Given the description of an element on the screen output the (x, y) to click on. 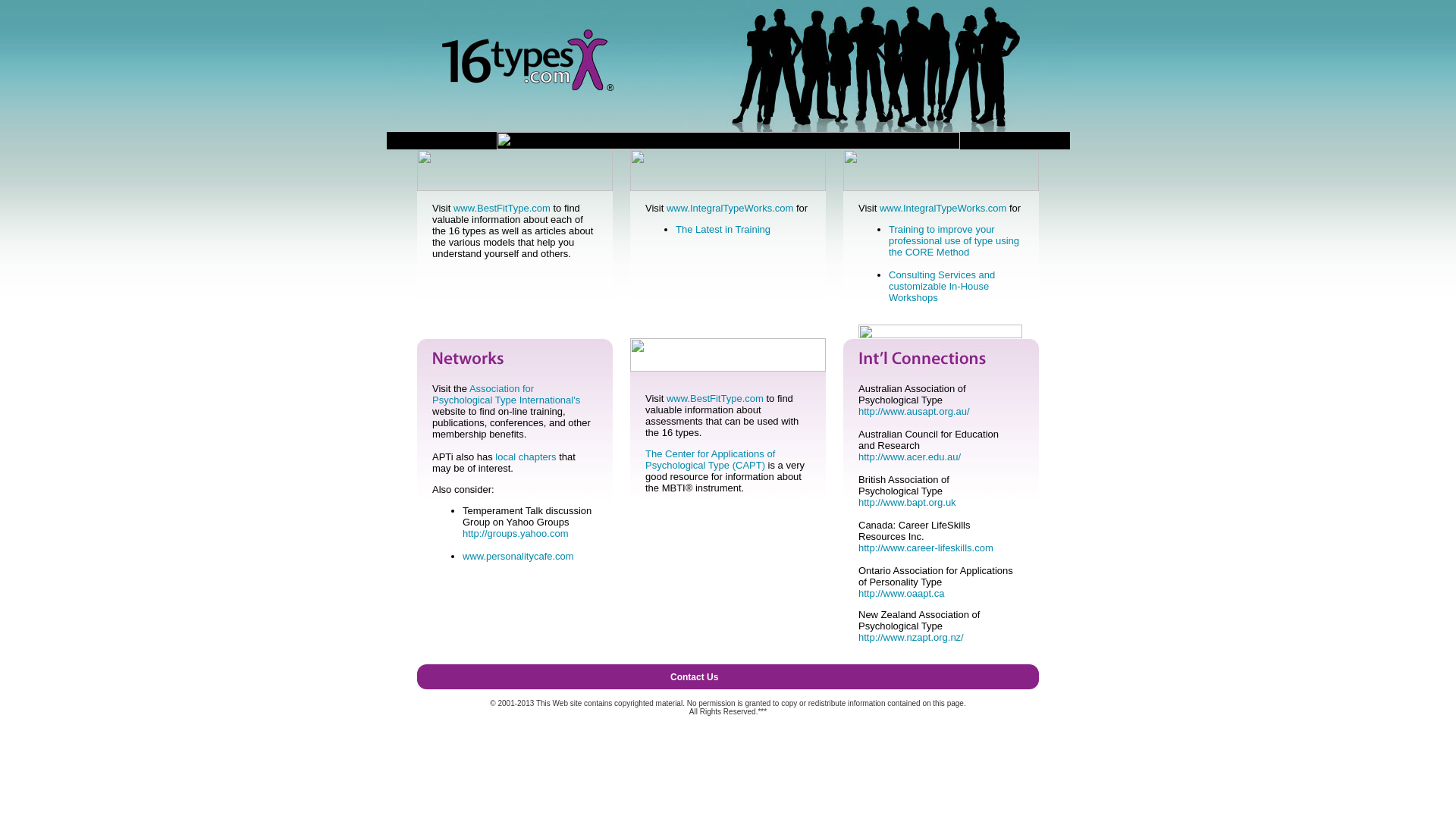
http://www.ausapt.org.au/ Element type: text (913, 411)
http://groups.yahoo.com Element type: text (514, 533)
local chapters Element type: text (525, 456)
http://www.acer.edu.au/ Element type: text (909, 456)
http://www.career-lifeskills.com Element type: text (925, 547)
http://www.bapt.org.uk Element type: text (907, 502)
http://www.oaapt.ca Element type: text (901, 593)
www.BestFitType.com Element type: text (714, 398)
Contact Us Element type: text (694, 676)
The Center for Applications of Psychological Type (CAPT) Element type: text (710, 459)
www.IntegralTypeWorks.com Element type: text (942, 207)
www.IntegralTypeWorks.com Element type: text (729, 207)
The Latest in Training Element type: text (722, 229)
Association for Psychological Type International's Element type: text (506, 393)
Consulting Services and customizable In-House Workshops Element type: text (941, 286)
www.personalitycafe.com Element type: text (518, 555)
http://www.nzapt.org.nz/ Element type: text (910, 637)
www.BestFitType.com Element type: text (501, 207)
